Given the description of an element on the screen output the (x, y) to click on. 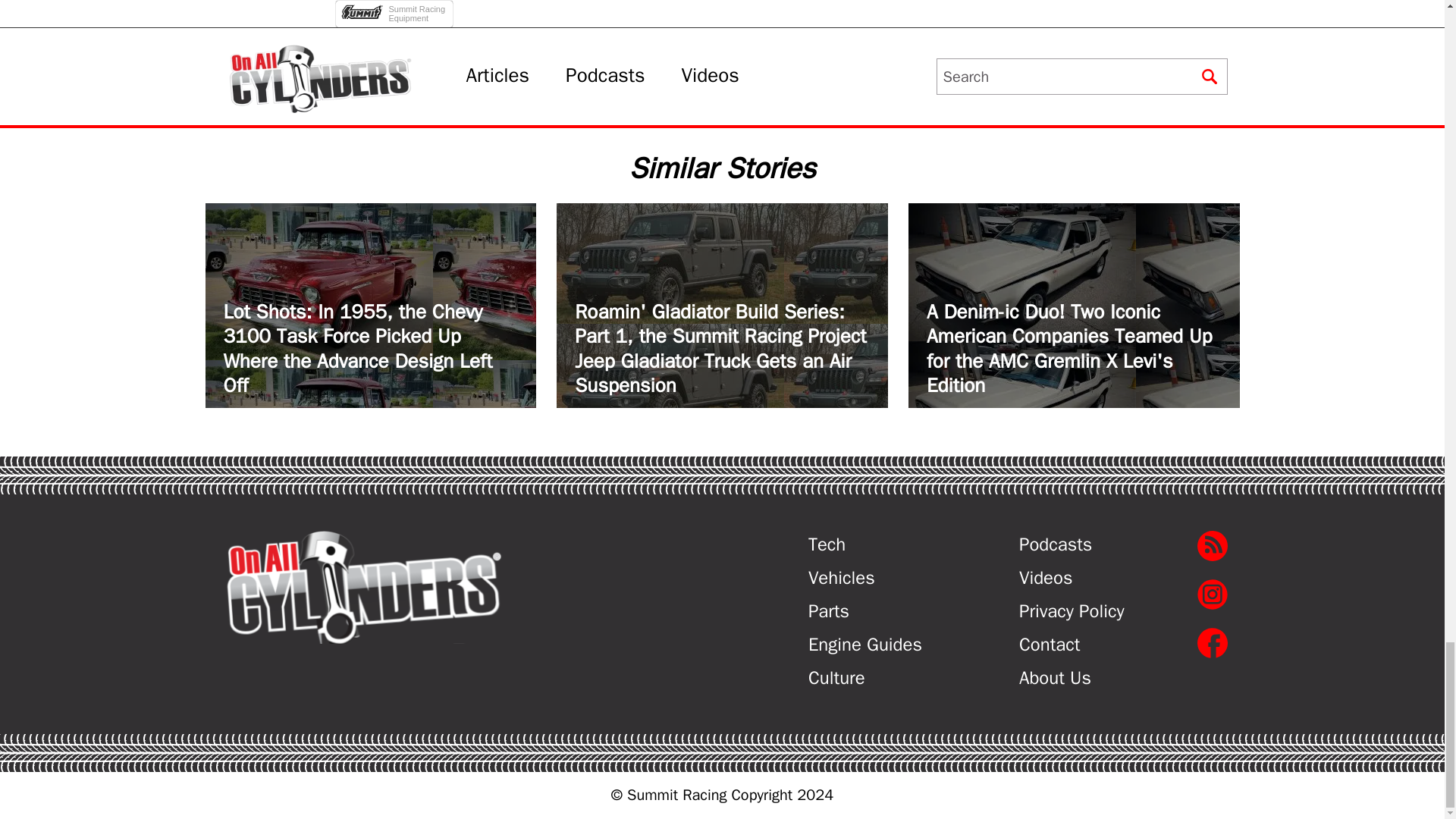
Post Comment (395, 3)
